Given the description of an element on the screen output the (x, y) to click on. 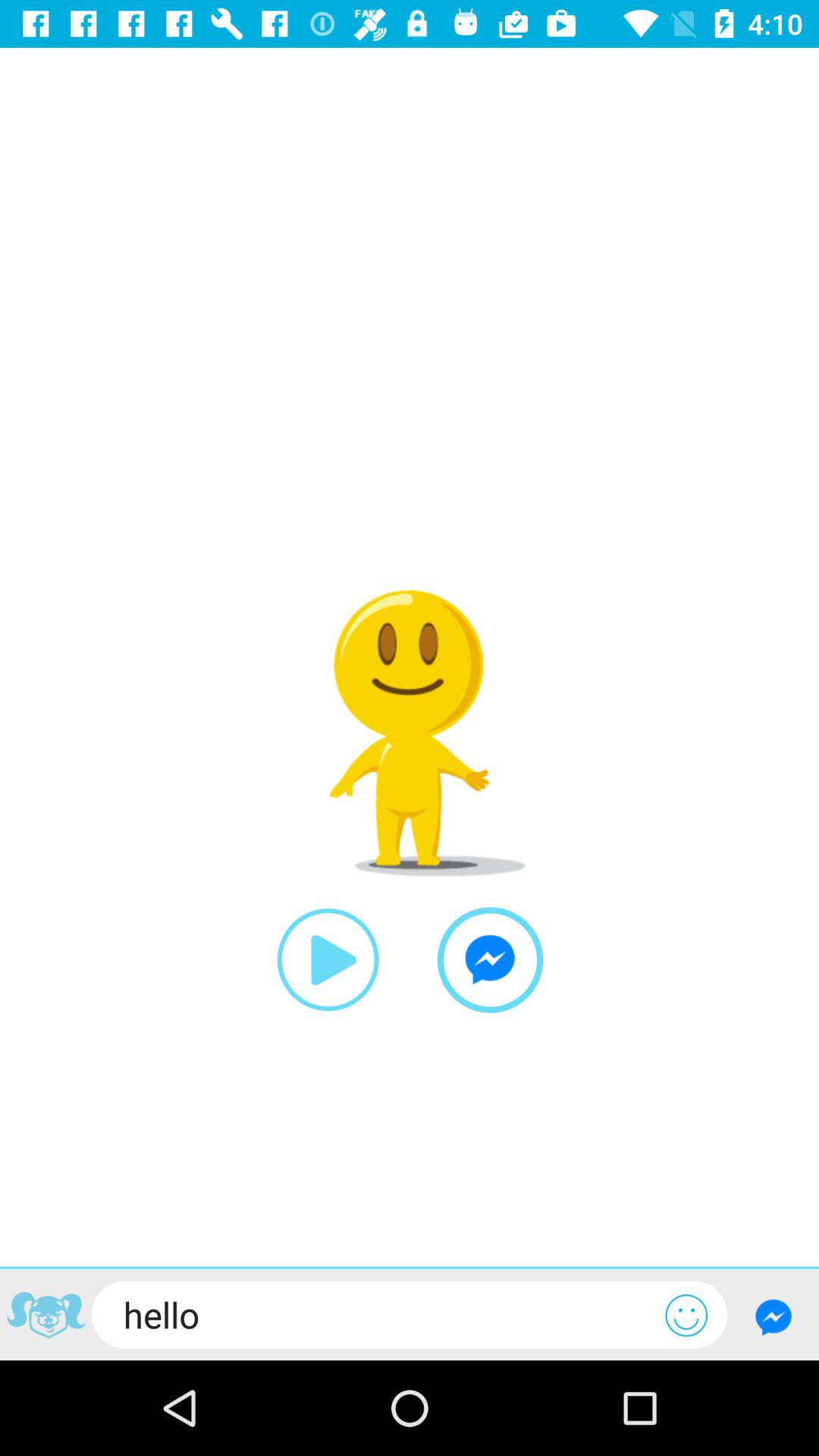
messenger option (490, 959)
